Given the description of an element on the screen output the (x, y) to click on. 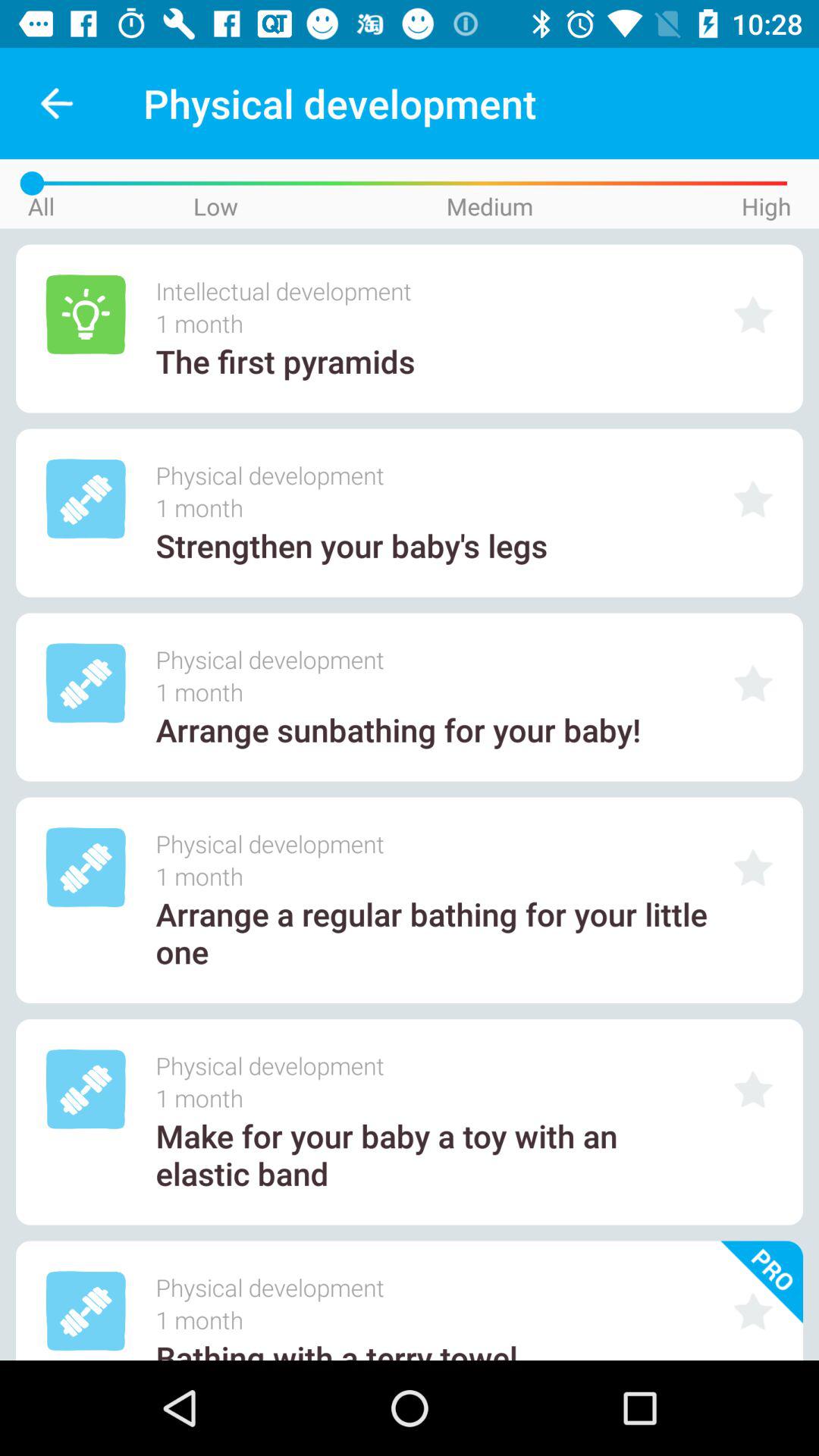
adding favorite star icon (753, 498)
